Given the description of an element on the screen output the (x, y) to click on. 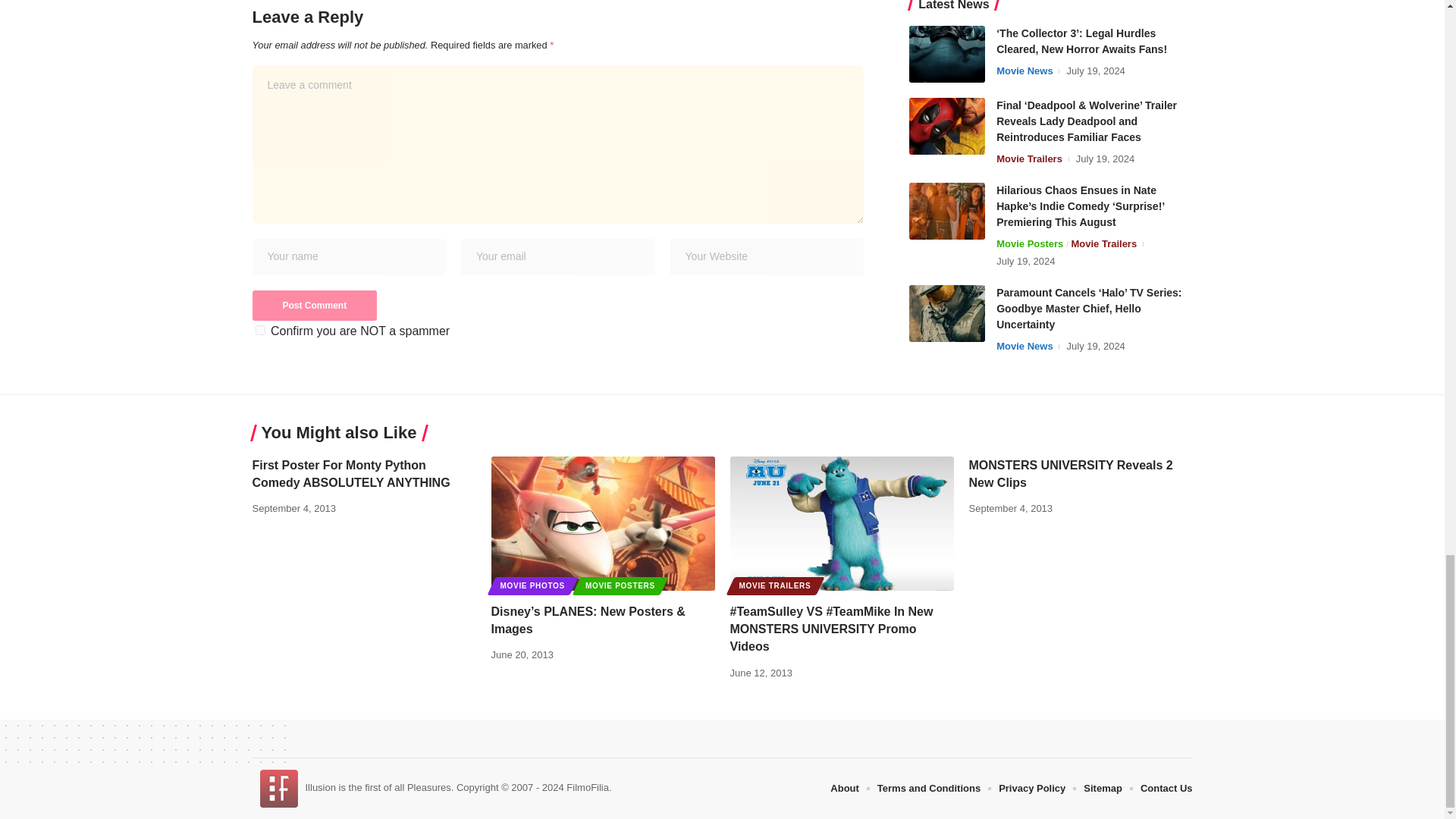
on (259, 329)
Post Comment (314, 305)
FilmoFilia HOME (277, 787)
